Given the description of an element on the screen output the (x, y) to click on. 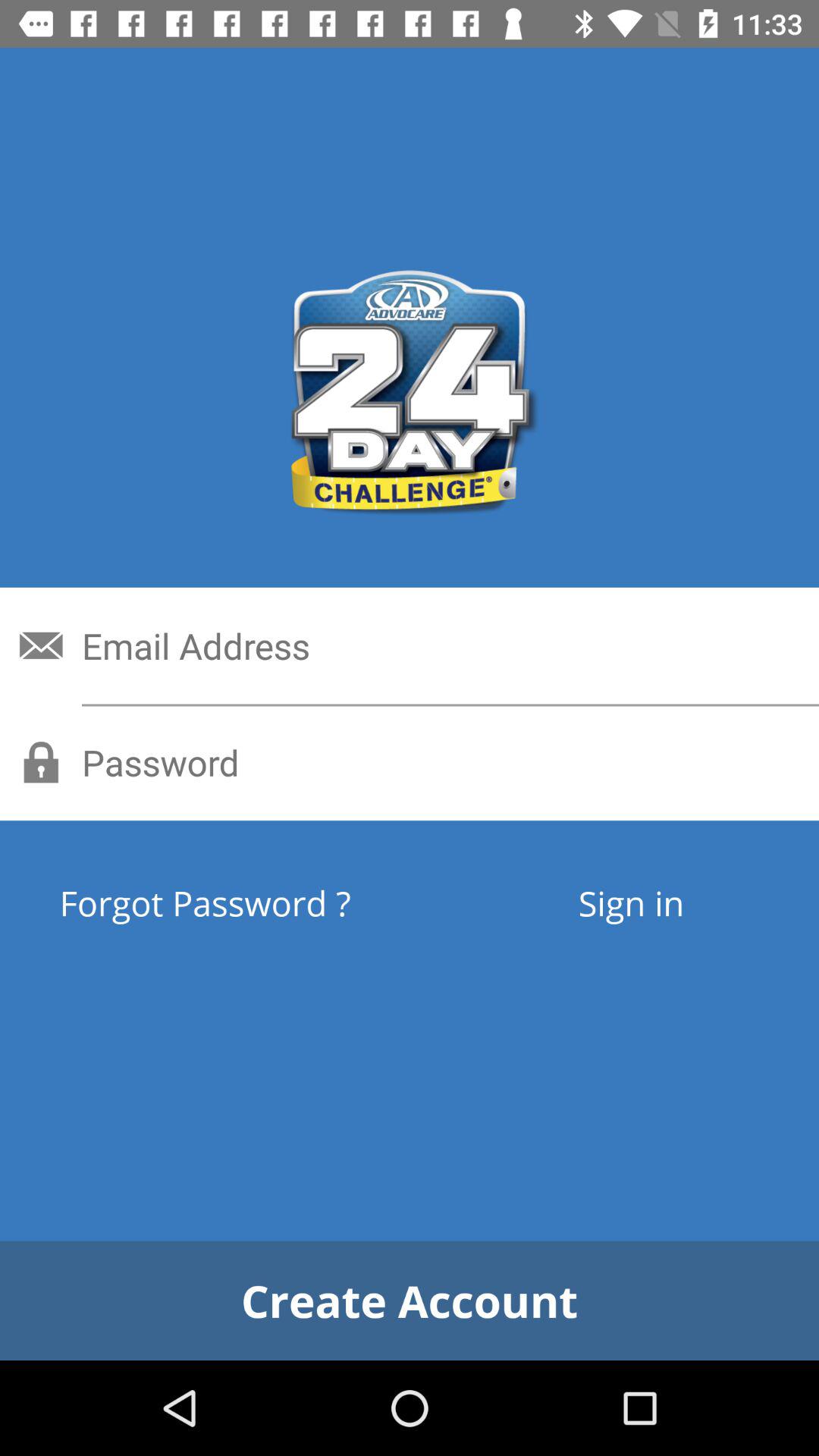
launch the item above the create account item (261, 902)
